Given the description of an element on the screen output the (x, y) to click on. 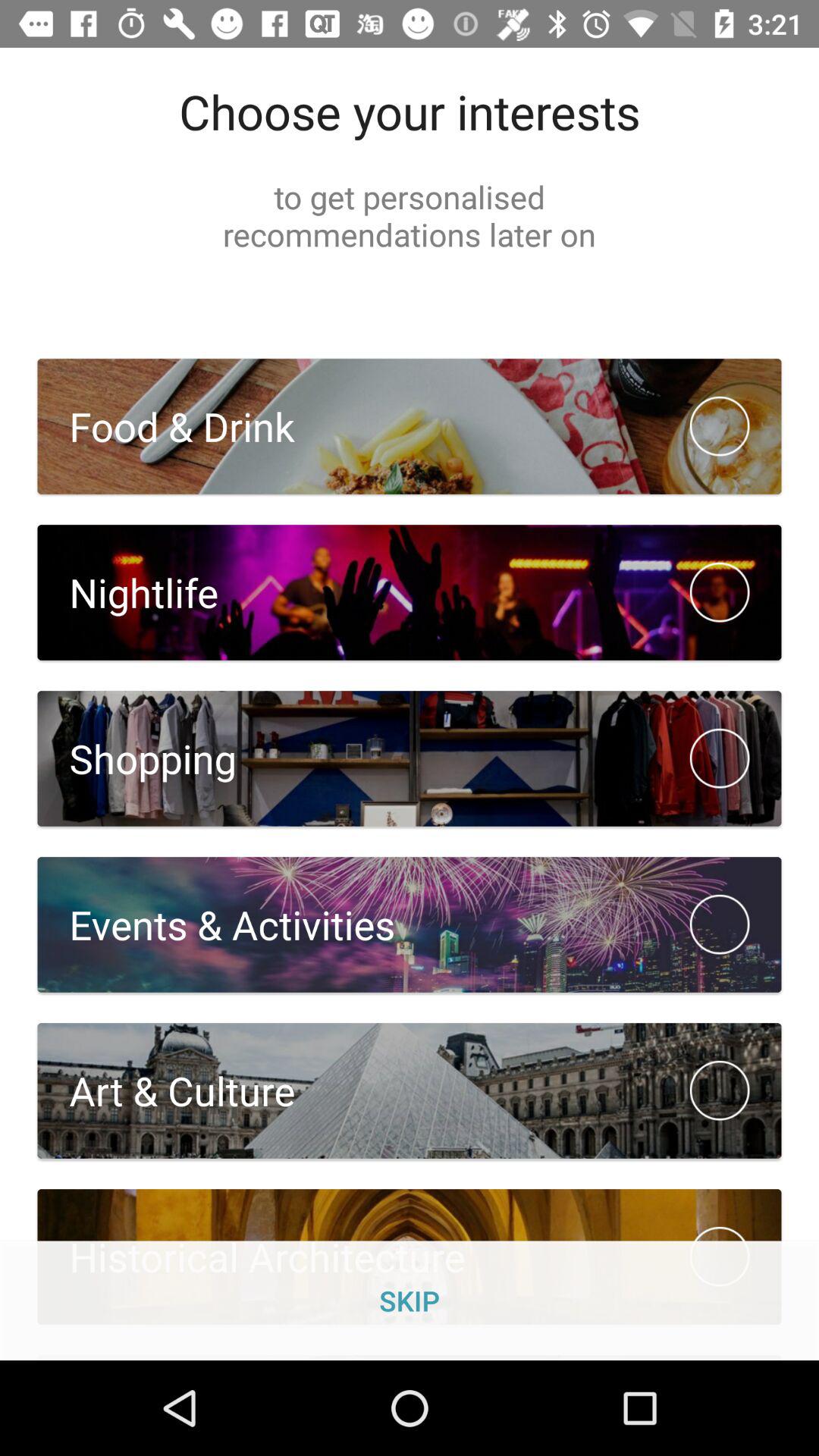
click on icon on the left side of food  drink (720, 426)
click on icon on the right side of art  culture (720, 1091)
click on circle checkbox which is next to art  culture (720, 1091)
click on the button which is below the event  activities (409, 1091)
click on the button below art  culture (409, 1256)
click on the button below nightlife (409, 759)
click on the option beside nightlife (720, 592)
